Given the description of an element on the screen output the (x, y) to click on. 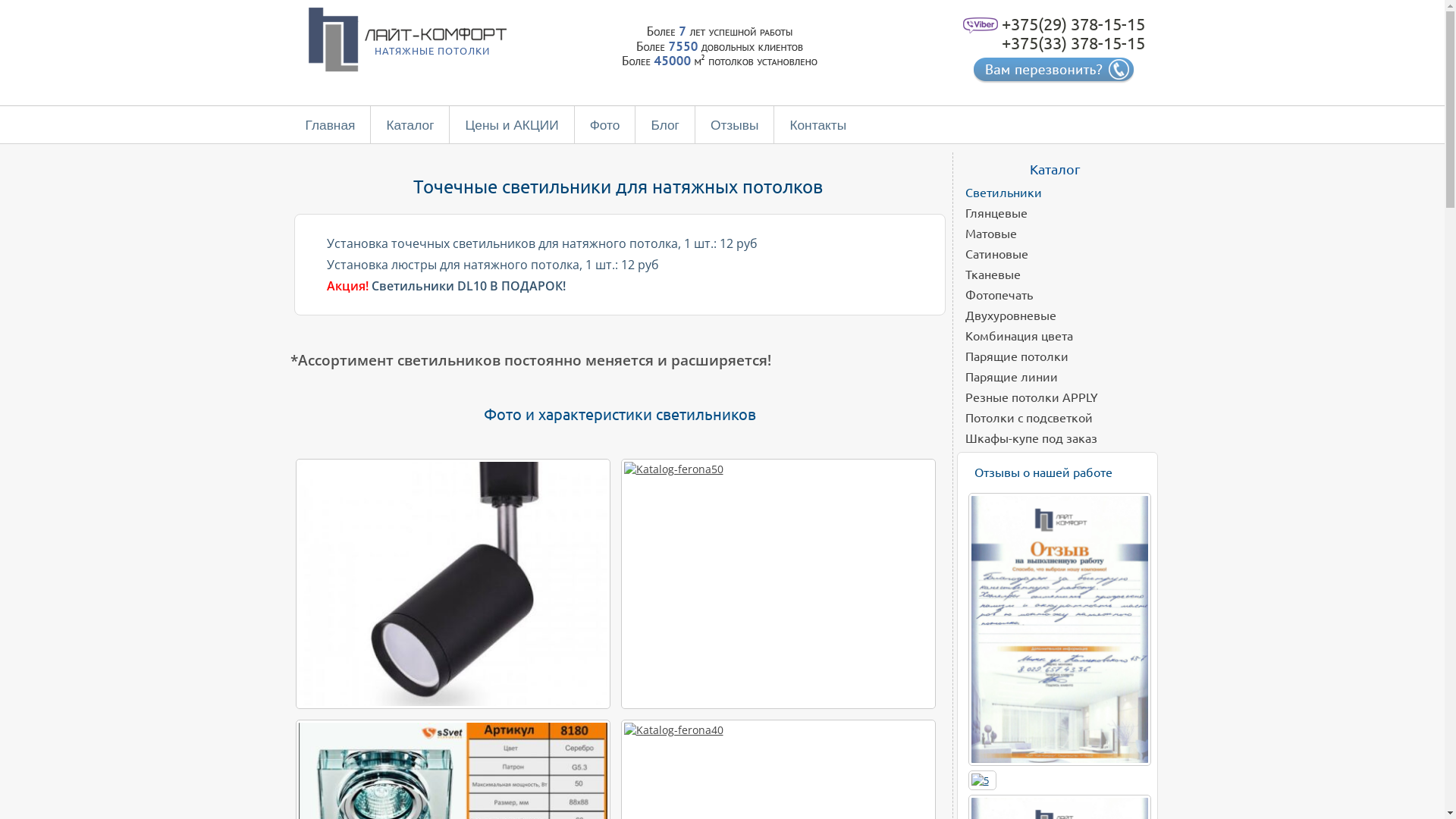
Katalog-ferona50 Element type: hover (777, 583)
10 Element type: hover (1056, 628)
5 Element type: hover (979, 780)
unnamed Element type: hover (452, 583)
